Given the description of an element on the screen output the (x, y) to click on. 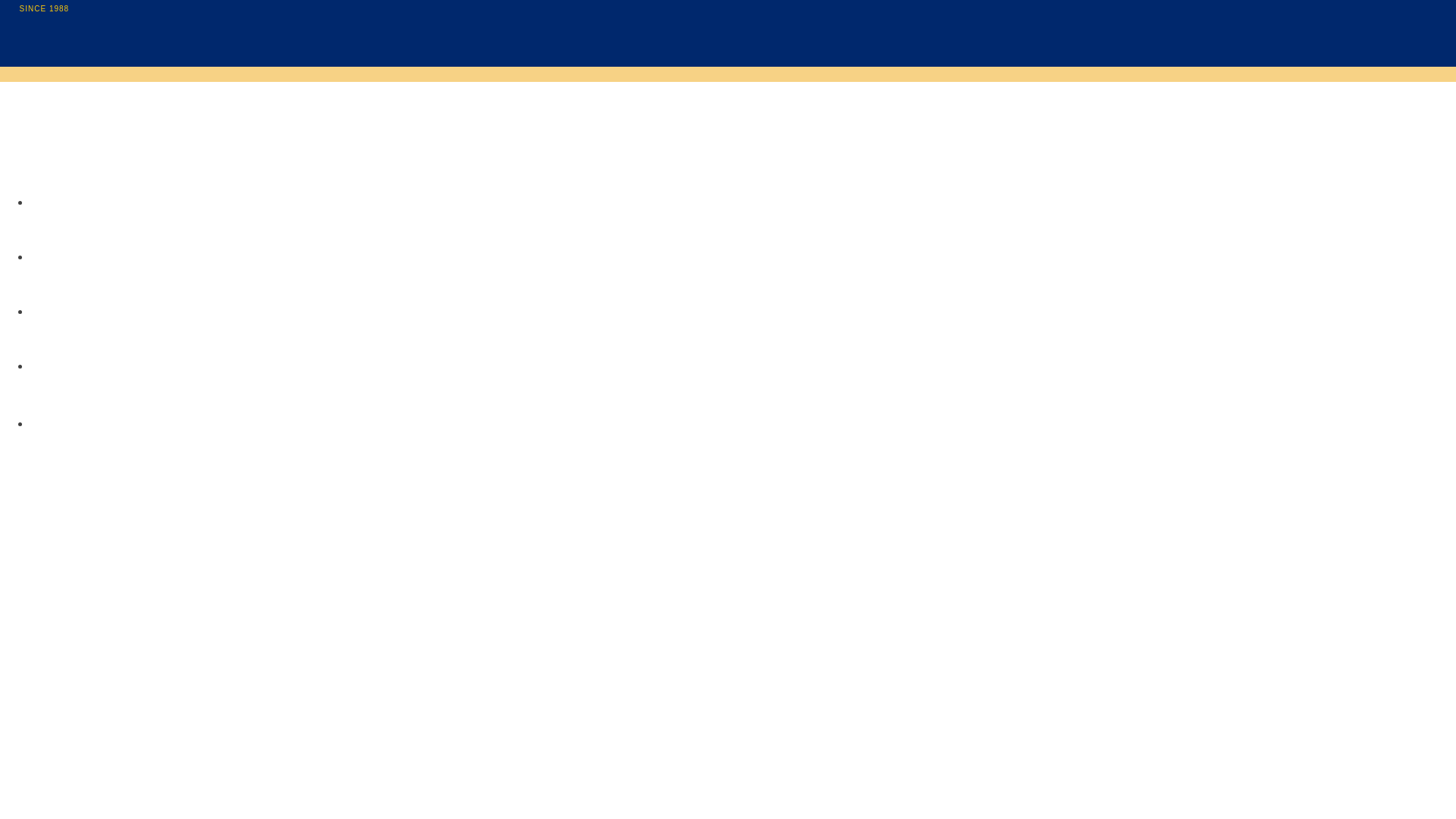
Prices (52, 255)
Fleet (47, 200)
Rental Terms (76, 310)
Home (85, 86)
Transfers (63, 364)
